Given the description of an element on the screen output the (x, y) to click on. 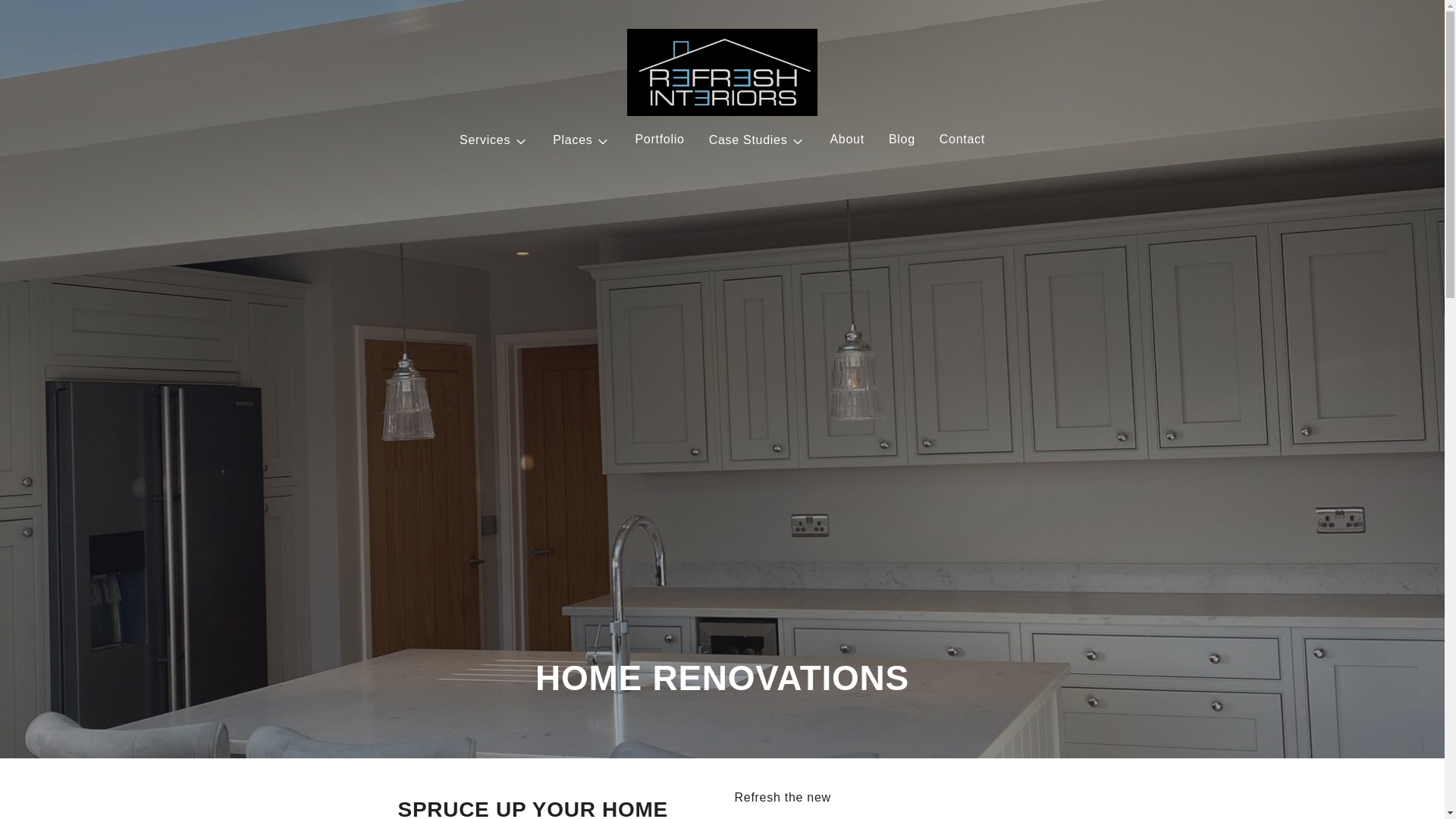
Blog (901, 138)
Services (493, 139)
Contact (962, 138)
Portfolio (659, 138)
Case Studies (757, 139)
Places (581, 139)
About (846, 138)
